Given the description of an element on the screen output the (x, y) to click on. 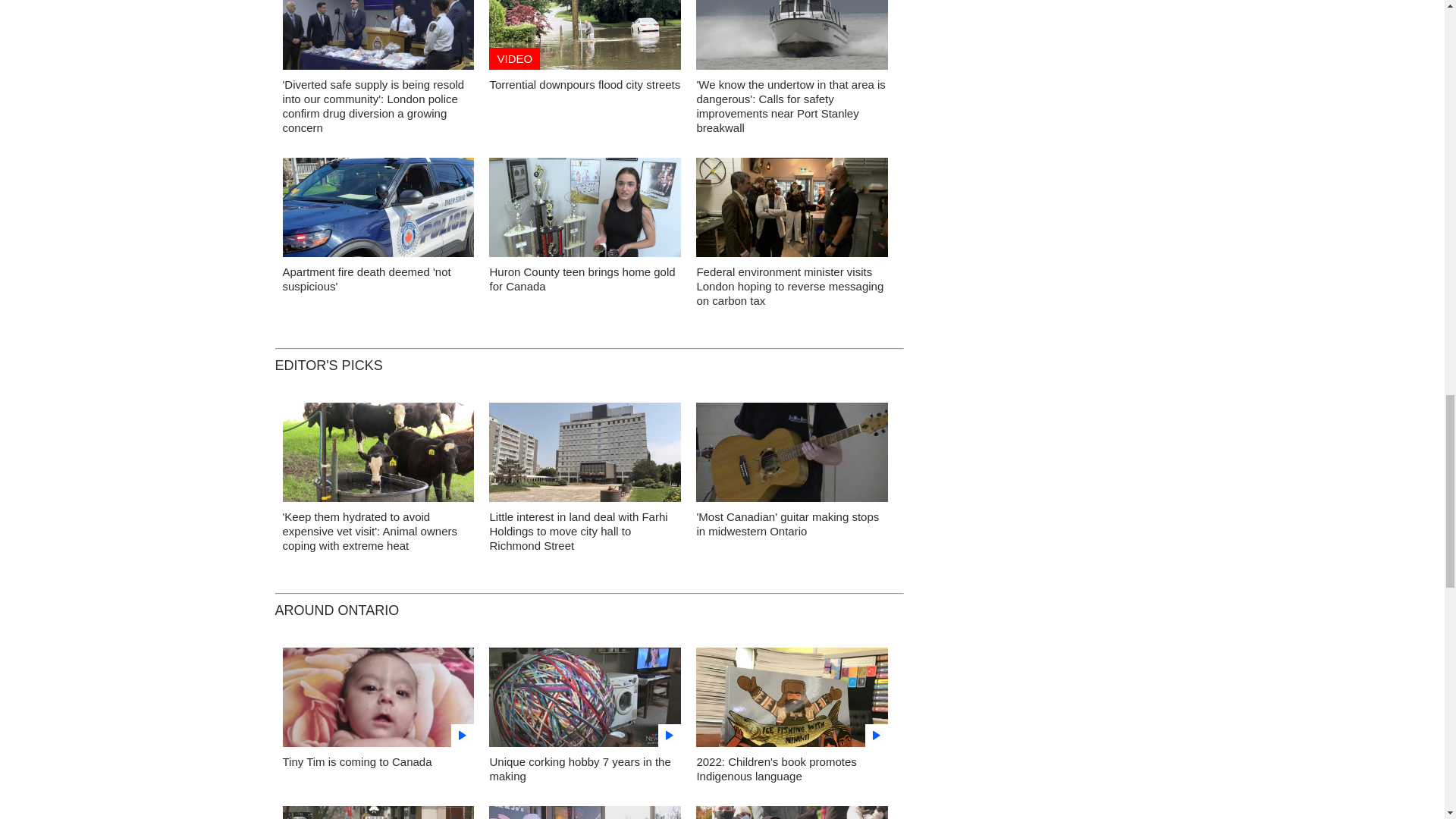
OPP BOAT SEARCH RESCUE (791, 38)
LONDON POLICE SEIZURE (378, 38)
Torrential downpours flood city streets (584, 83)
london - flooding - july 2024 (585, 38)
